Given the description of an element on the screen output the (x, y) to click on. 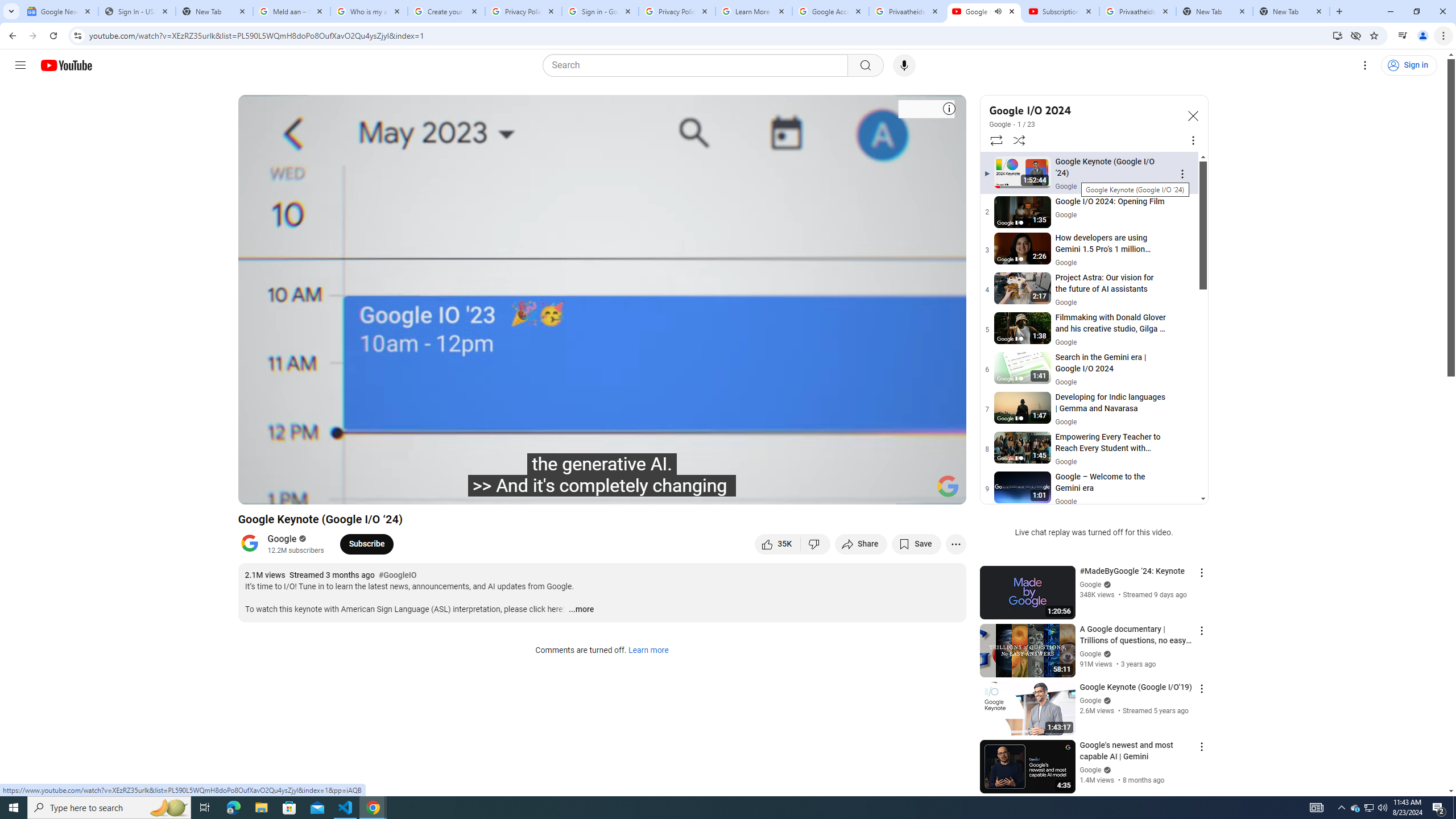
Create your Google Account (446, 11)
like this video along with 35,367 other people (777, 543)
Play (k) (285, 490)
Collapse (1192, 115)
#GoogleIO (397, 575)
